Given the description of an element on the screen output the (x, y) to click on. 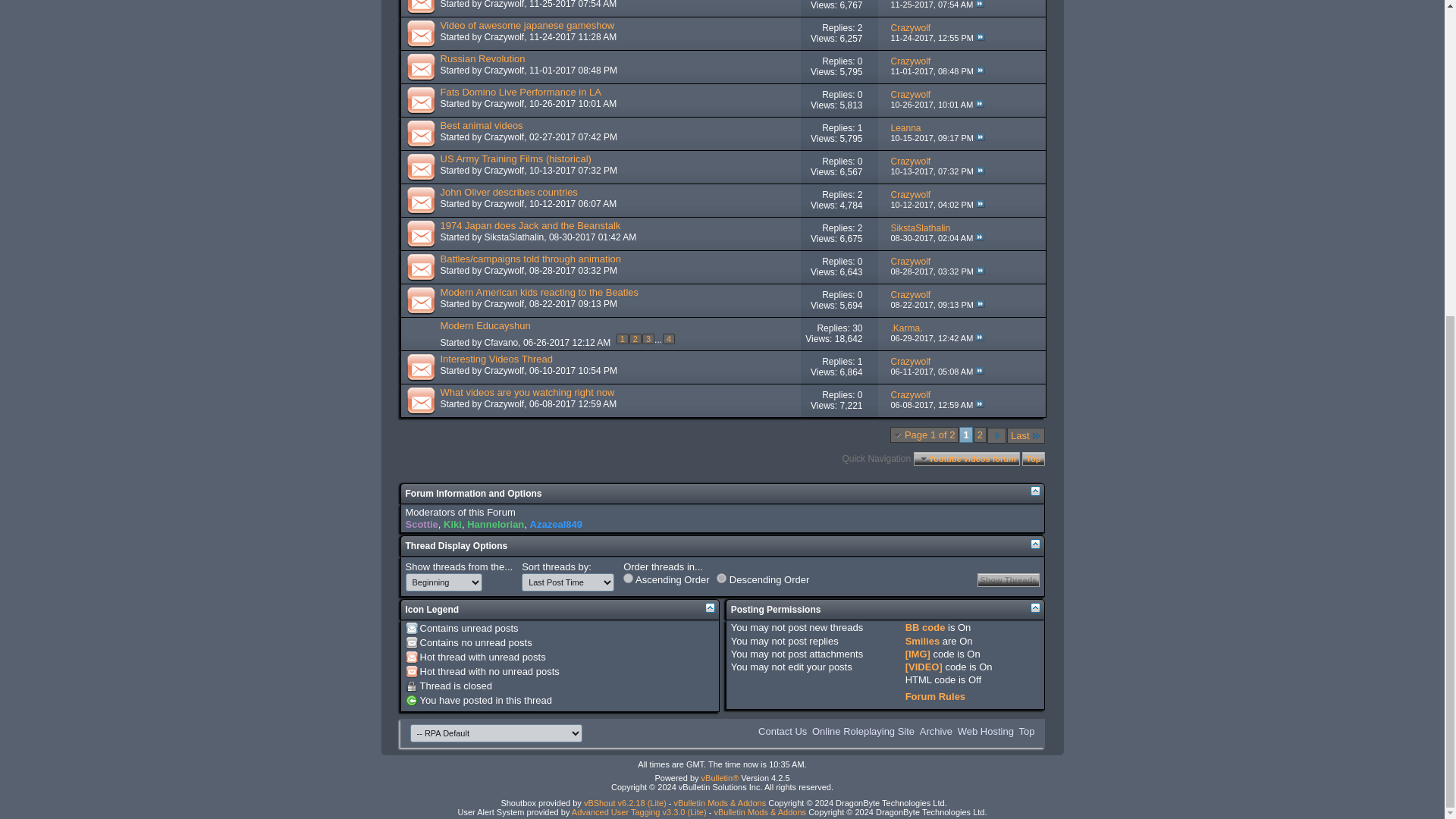
asc (628, 578)
